Given the description of an element on the screen output the (x, y) to click on. 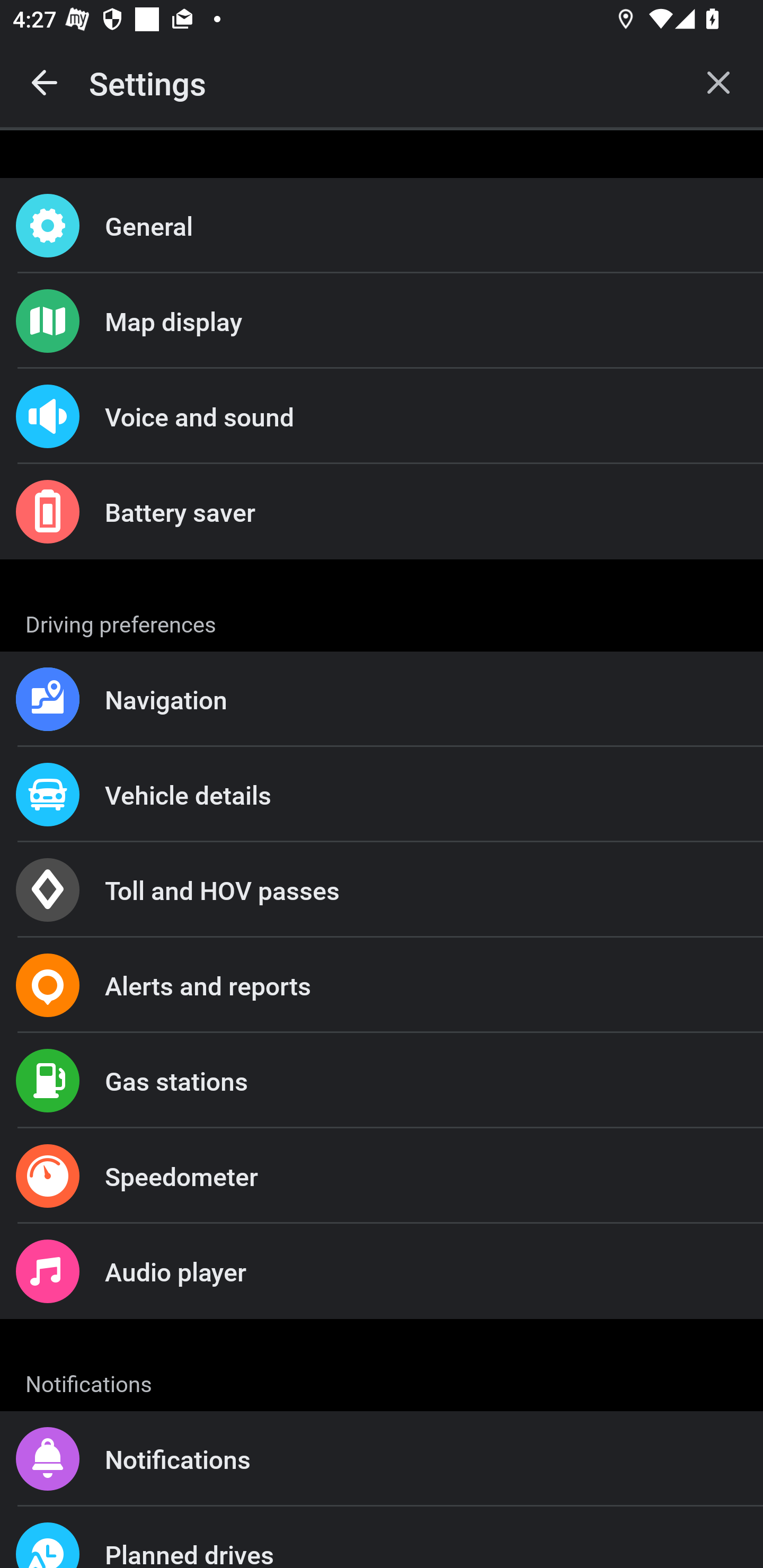
General (381, 225)
Map display (381, 320)
Voice and sound (381, 416)
Battery saver (381, 511)
ACTION_CELL_ICON Settings ACTION_CELL_TEXT (381, 620)
Navigation (381, 699)
Vehicle details (381, 794)
Toll and HOV passes (381, 889)
Alerts and reports (381, 985)
Gas stations (381, 1080)
Audio player (381, 1270)
Planned drives (381, 1537)
